Given the description of an element on the screen output the (x, y) to click on. 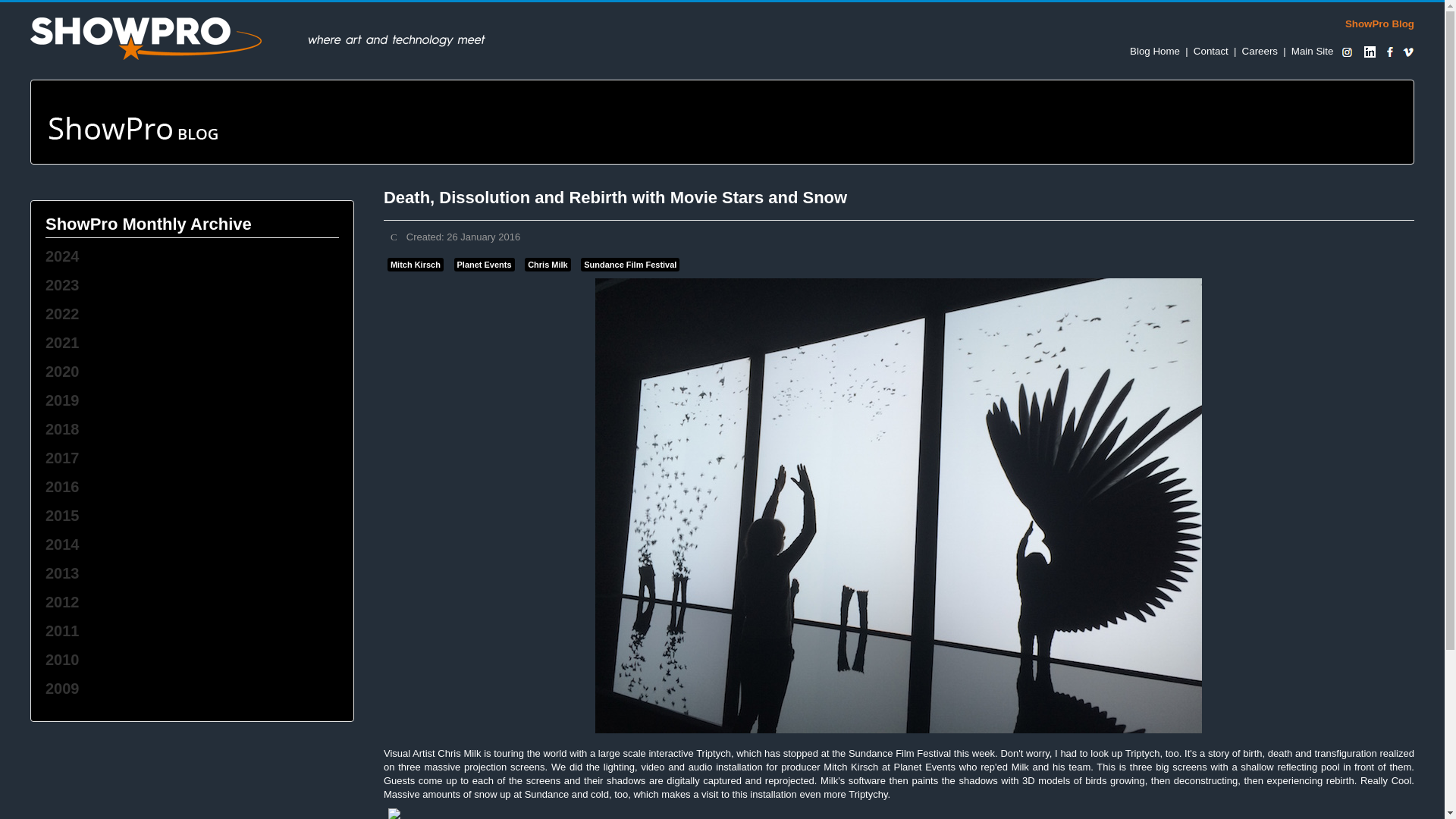
Careers (1259, 50)
Vimeo (1407, 50)
LinkedIn (1369, 50)
Blog Home (1154, 50)
Sundance Film Festival (629, 264)
Chris Milk (547, 264)
Instagram (1346, 50)
Planet Events (482, 264)
ShowPro, Inc. (1312, 50)
Main Site (1312, 50)
Mitch Kirsch (415, 264)
Contact (1210, 50)
